Given the description of an element on the screen output the (x, y) to click on. 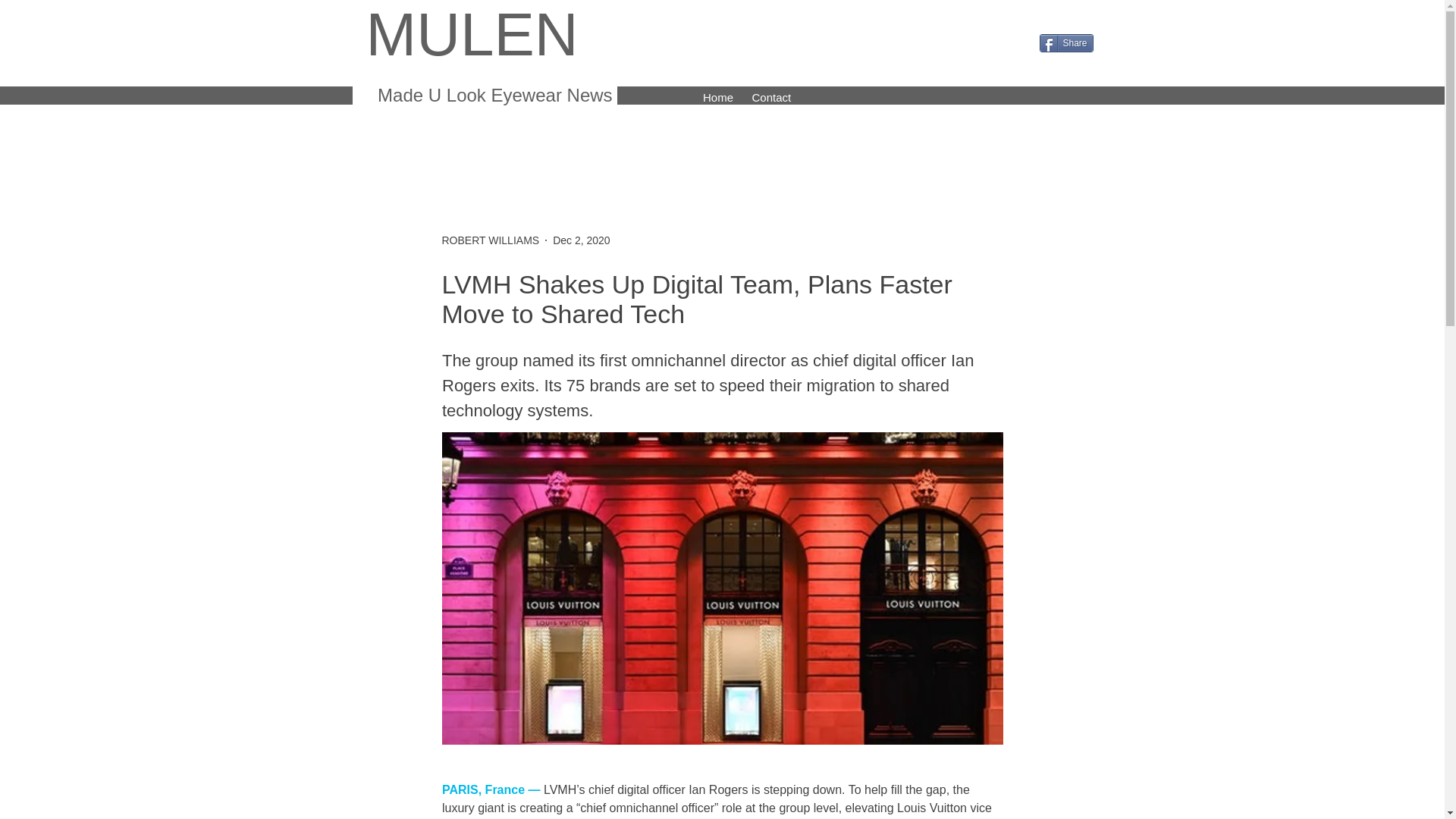
Contact (770, 95)
Home (717, 95)
Share (1066, 43)
 Made U Look Eyewear News (491, 95)
Share (1066, 43)
Dec 2, 2020 (581, 239)
MULEN (471, 33)
ROBERT WILLIAMS (489, 239)
